Given the description of an element on the screen output the (x, y) to click on. 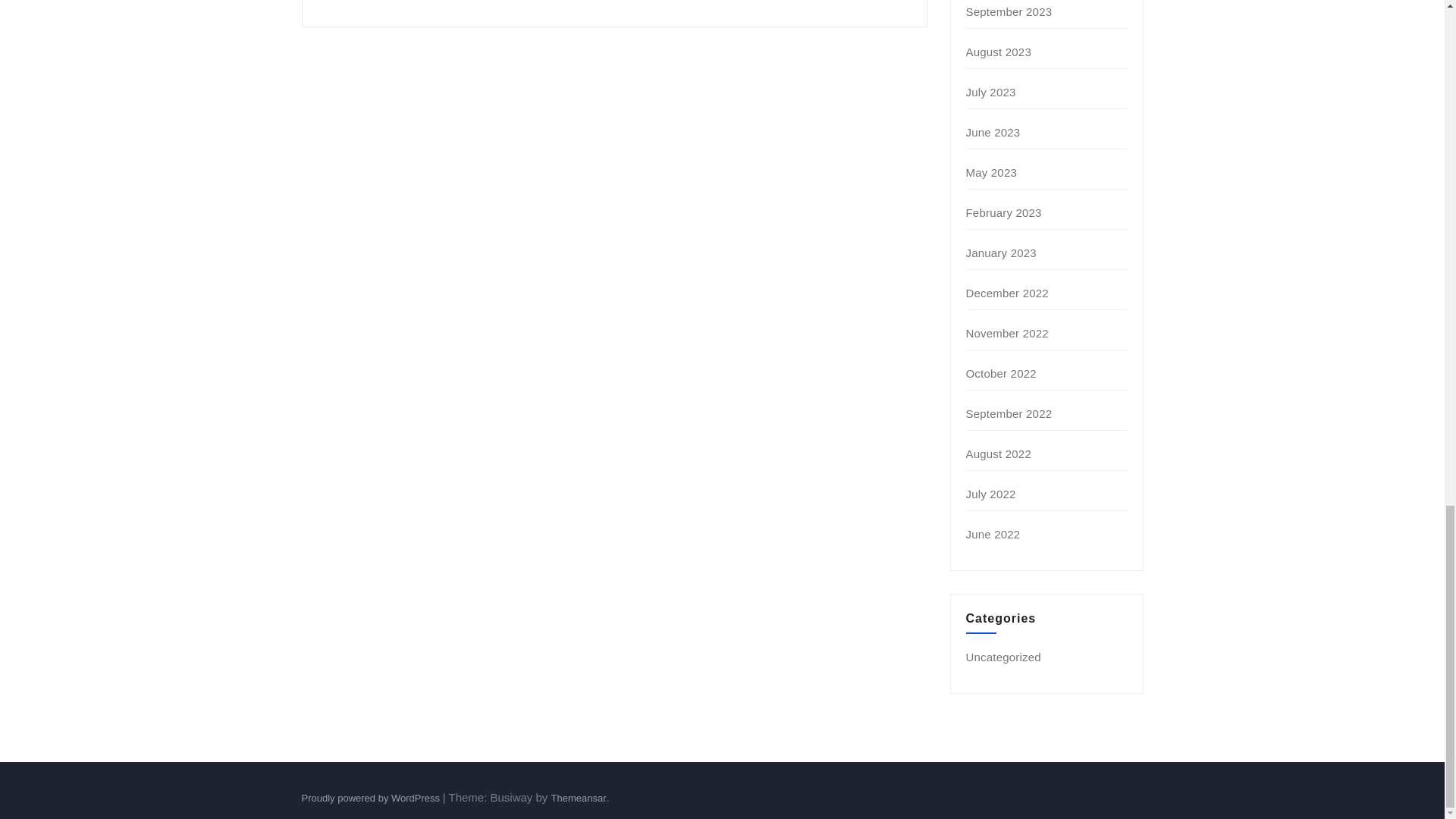
October 2022 (1001, 373)
August 2023 (998, 51)
December 2022 (1007, 292)
February 2023 (1004, 212)
September 2022 (1009, 413)
August 2022 (998, 453)
May 2023 (991, 172)
July 2023 (991, 91)
September 2023 (1009, 11)
June 2023 (993, 132)
January 2023 (1001, 252)
November 2022 (1007, 332)
